Given the description of an element on the screen output the (x, y) to click on. 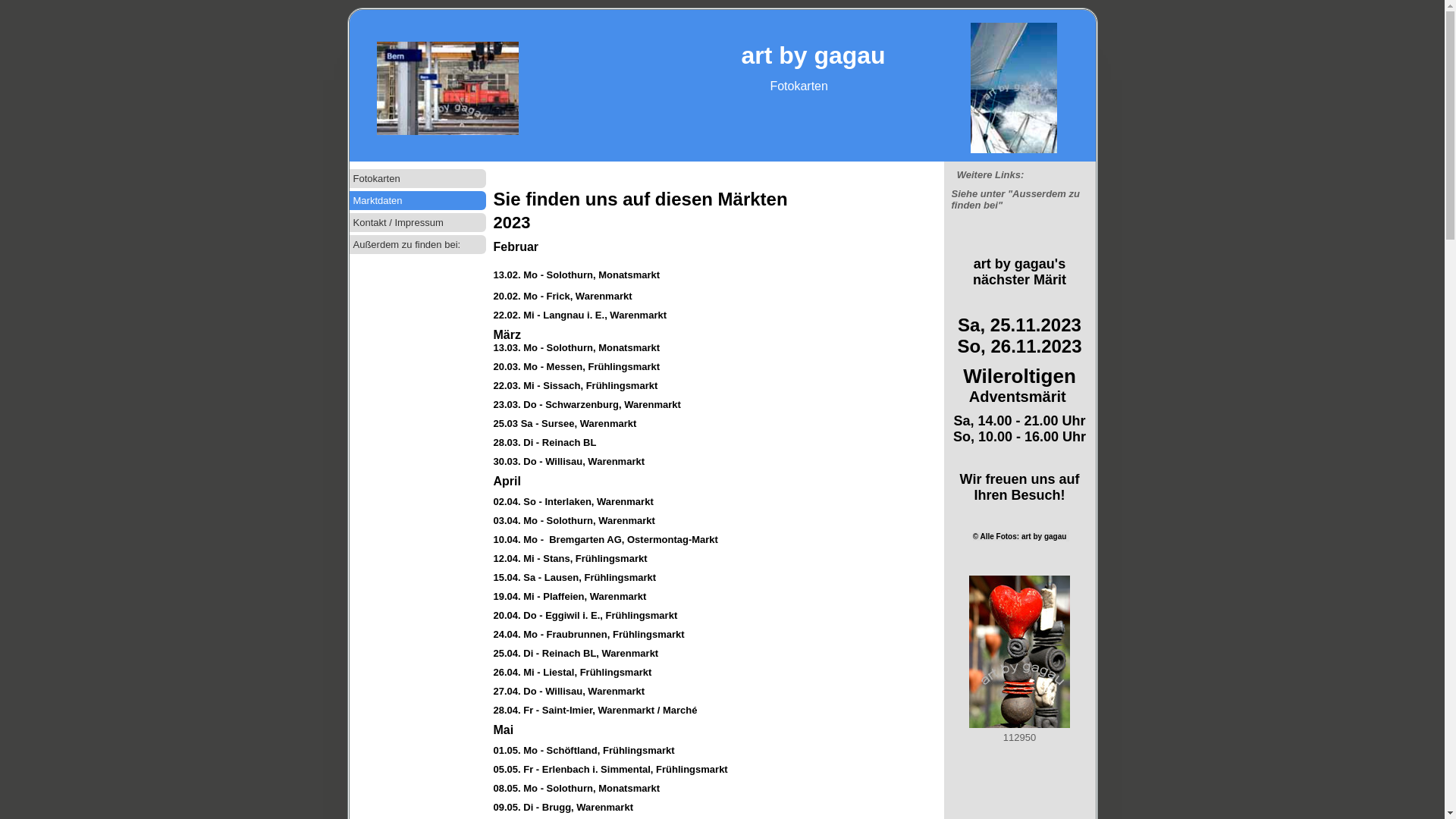
Kontakt / Impressum Element type: text (416, 222)
Fotokarten Element type: text (416, 178)
Marktdaten Element type: text (416, 200)
